Given the description of an element on the screen output the (x, y) to click on. 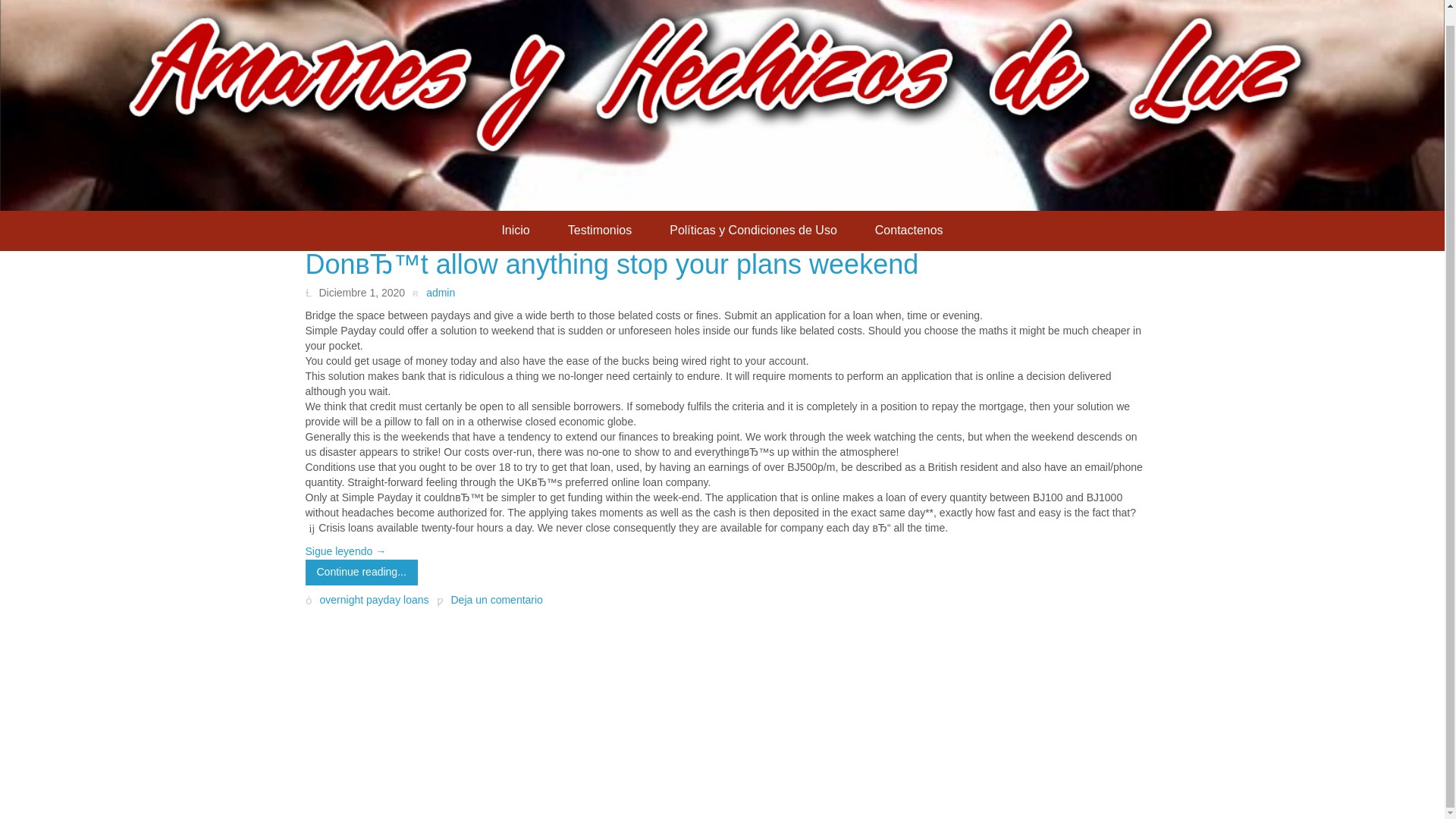
admin (433, 292)
Continue reading... (360, 572)
Contactenos (909, 230)
Inicio (514, 230)
View all posts by admin (433, 292)
Continue reading... (360, 572)
overnight payday loans (374, 600)
Testimonios (599, 230)
Deja un comentario (489, 599)
